Given the description of an element on the screen output the (x, y) to click on. 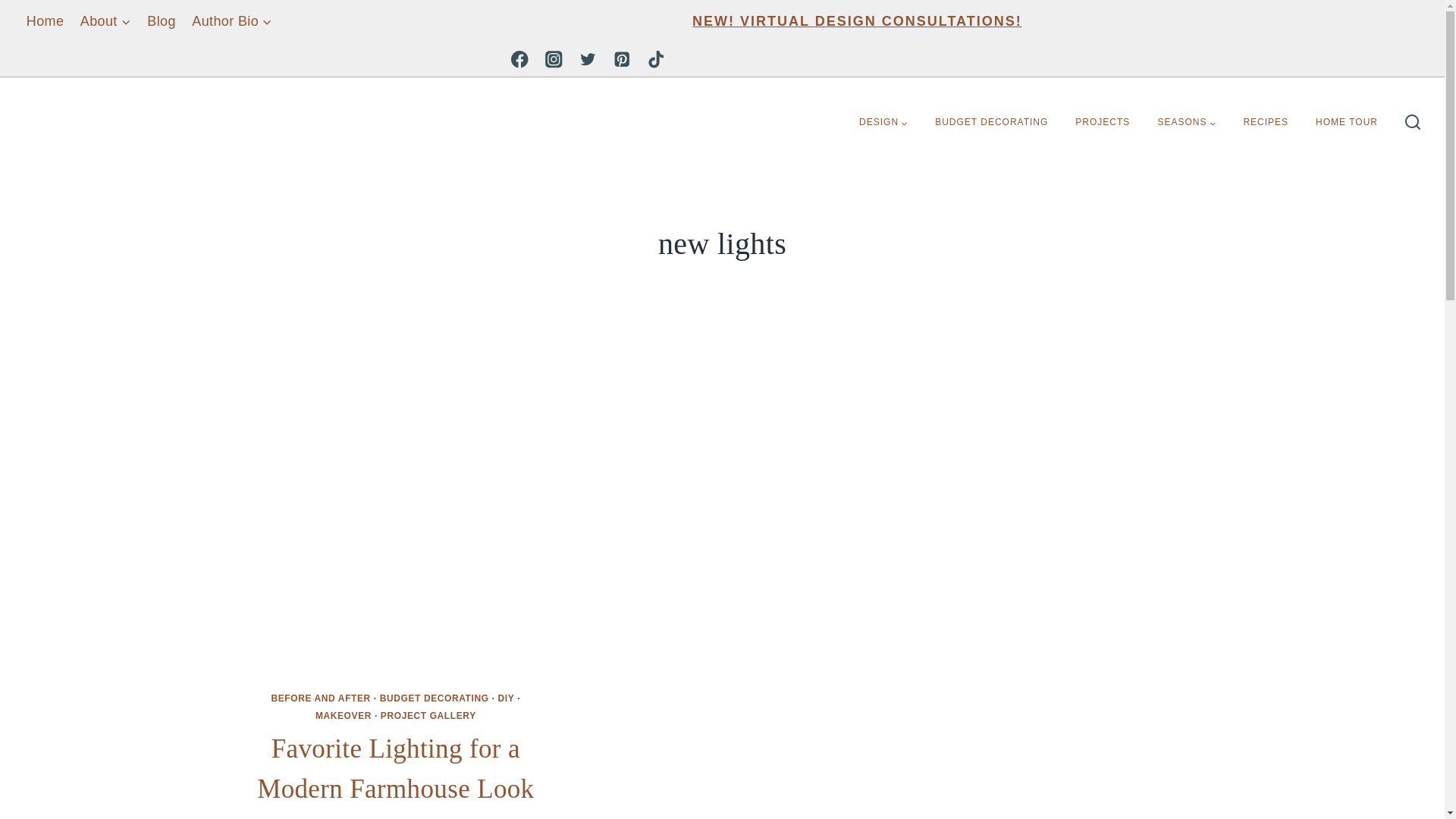
BUDGET DECORATING (991, 122)
Blog (161, 21)
SEASONS (1185, 122)
BEFORE AND AFTER (319, 697)
Favorite Lighting for a Modern Farmhouse Look (395, 768)
Home (44, 21)
PROJECTS (1101, 122)
DESIGN (883, 122)
PROJECT GALLERY (428, 715)
About (104, 21)
